Given the description of an element on the screen output the (x, y) to click on. 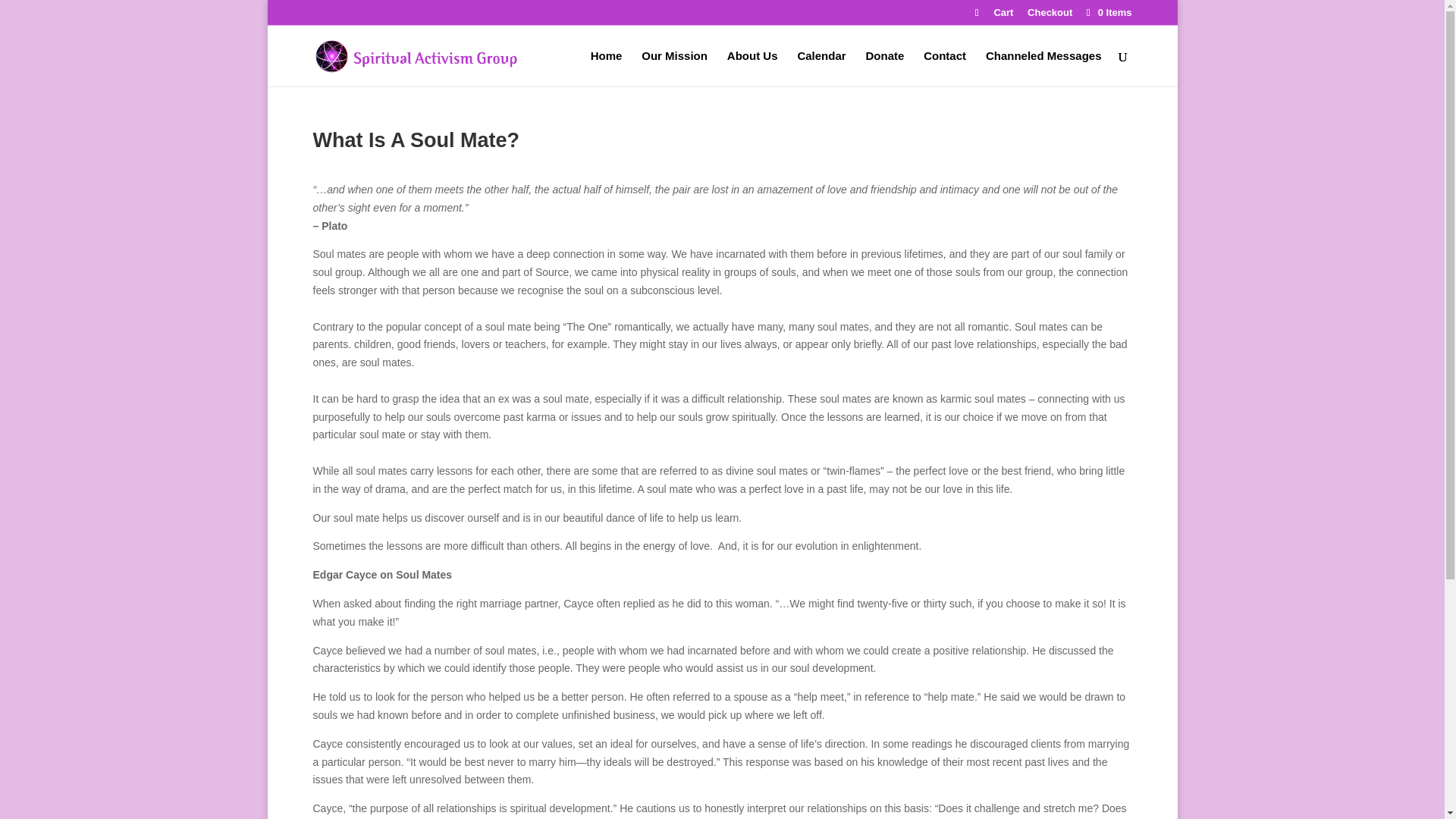
Checkout (1049, 16)
Our Mission (674, 68)
Home (607, 68)
0 Items (1107, 12)
Channeled Messages (1043, 68)
Calendar (820, 68)
About Us (751, 68)
Contact (944, 68)
Donate (884, 68)
Cart (1002, 16)
